Given the description of an element on the screen output the (x, y) to click on. 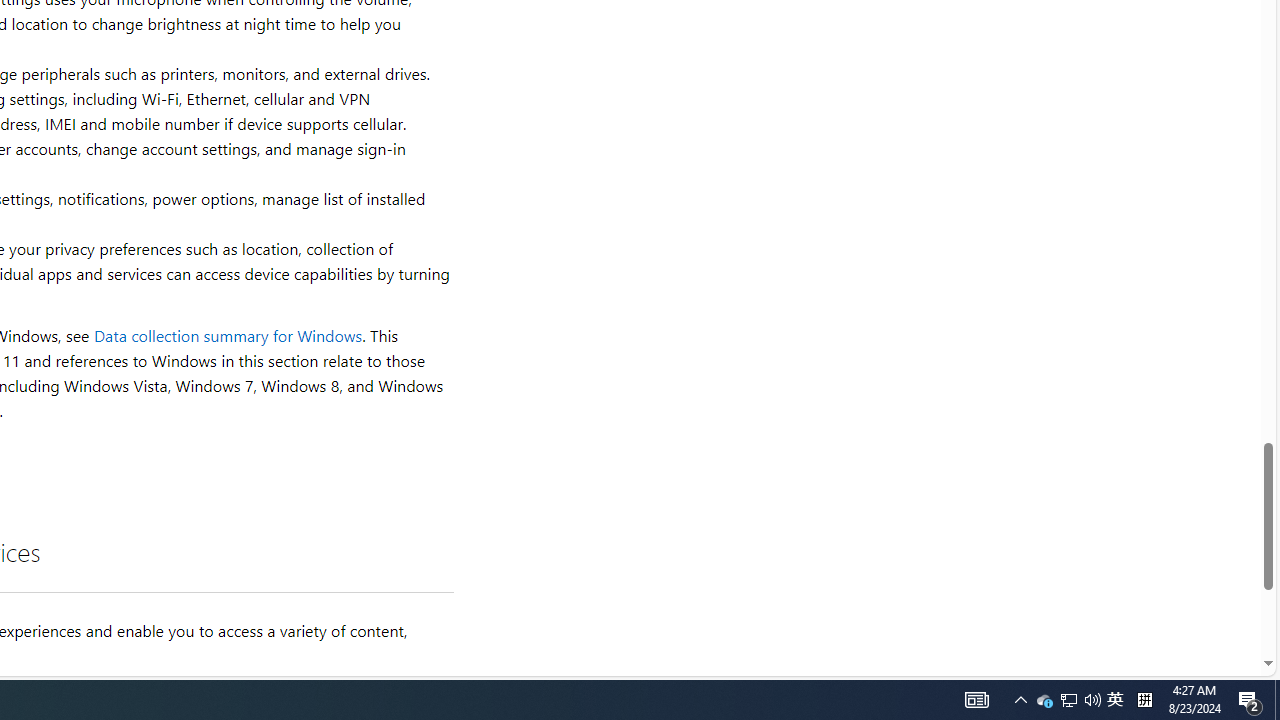
Data collection summary for Windows (228, 335)
